Given the description of an element on the screen output the (x, y) to click on. 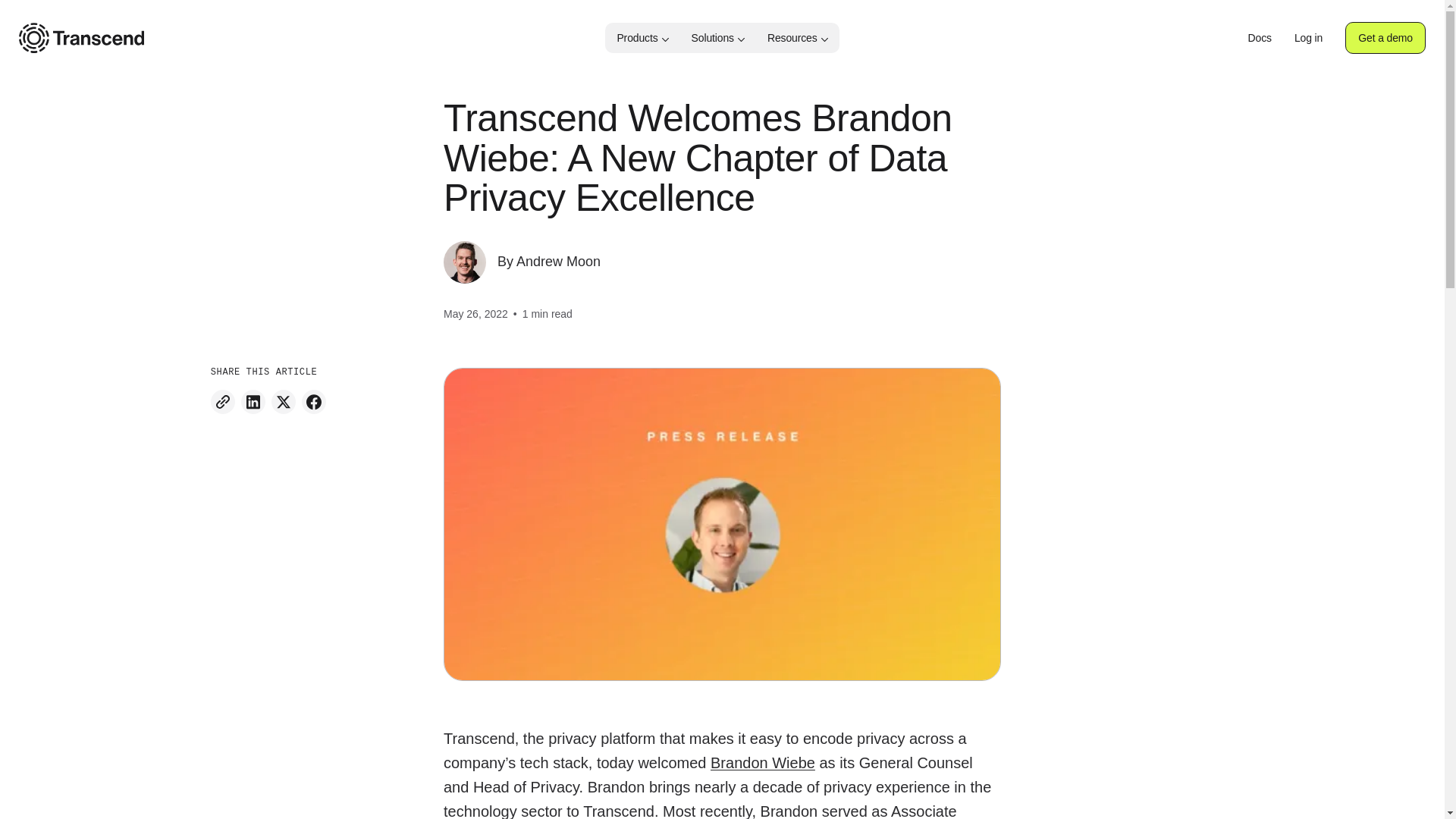
Solutions (717, 37)
Brandon Wiebe (762, 762)
Products (642, 37)
Resources (797, 37)
Get a demo (1385, 38)
Log in (1308, 37)
Andrew Moon (557, 261)
Docs (1259, 37)
